Given the description of an element on the screen output the (x, y) to click on. 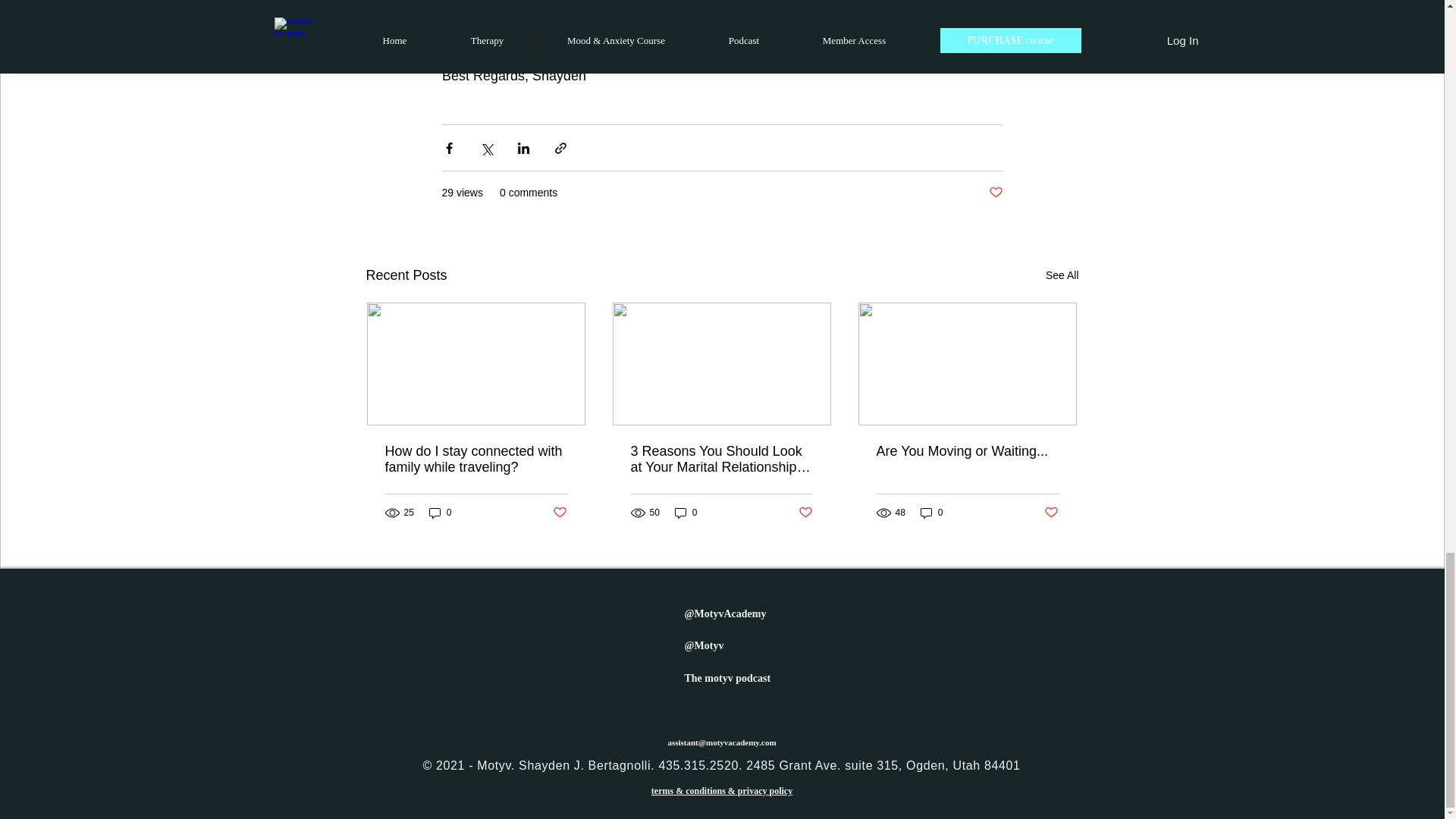
Post not marked as liked (558, 512)
0 (931, 513)
How do I stay connected with family while traveling? (476, 459)
Are You Moving or Waiting... (967, 451)
0 (685, 513)
See All (1061, 275)
Post not marked as liked (804, 512)
Post not marked as liked (1050, 512)
0 (440, 513)
